Given the description of an element on the screen output the (x, y) to click on. 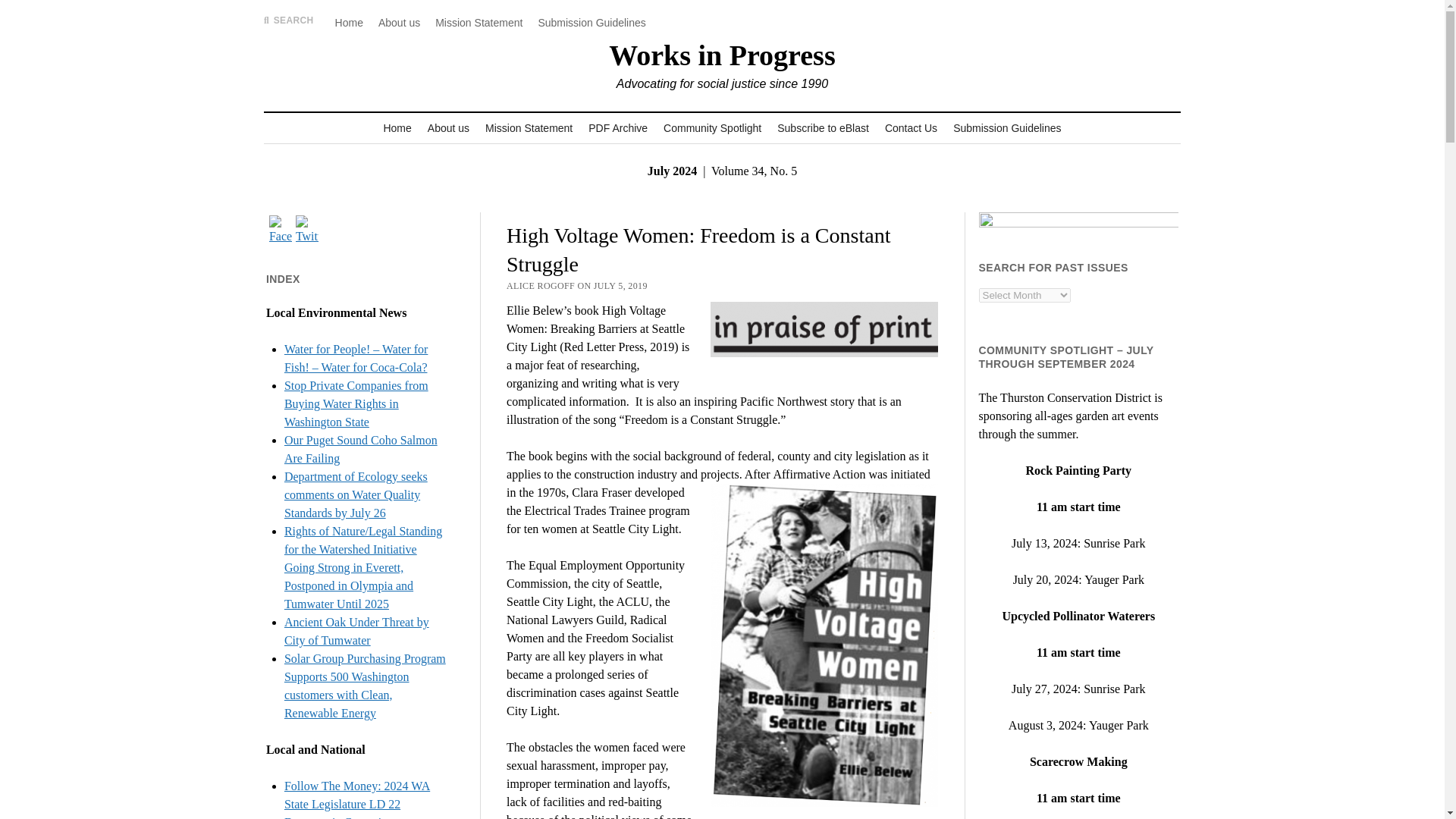
SEARCH (288, 20)
Subscribe to eBlast (823, 128)
Submission Guidelines (1006, 128)
About us (448, 128)
Works in Progress (721, 55)
Mission Statement (528, 128)
Contact Us (910, 128)
Submission Guidelines (590, 22)
Mission Statement (478, 22)
